Given the description of an element on the screen output the (x, y) to click on. 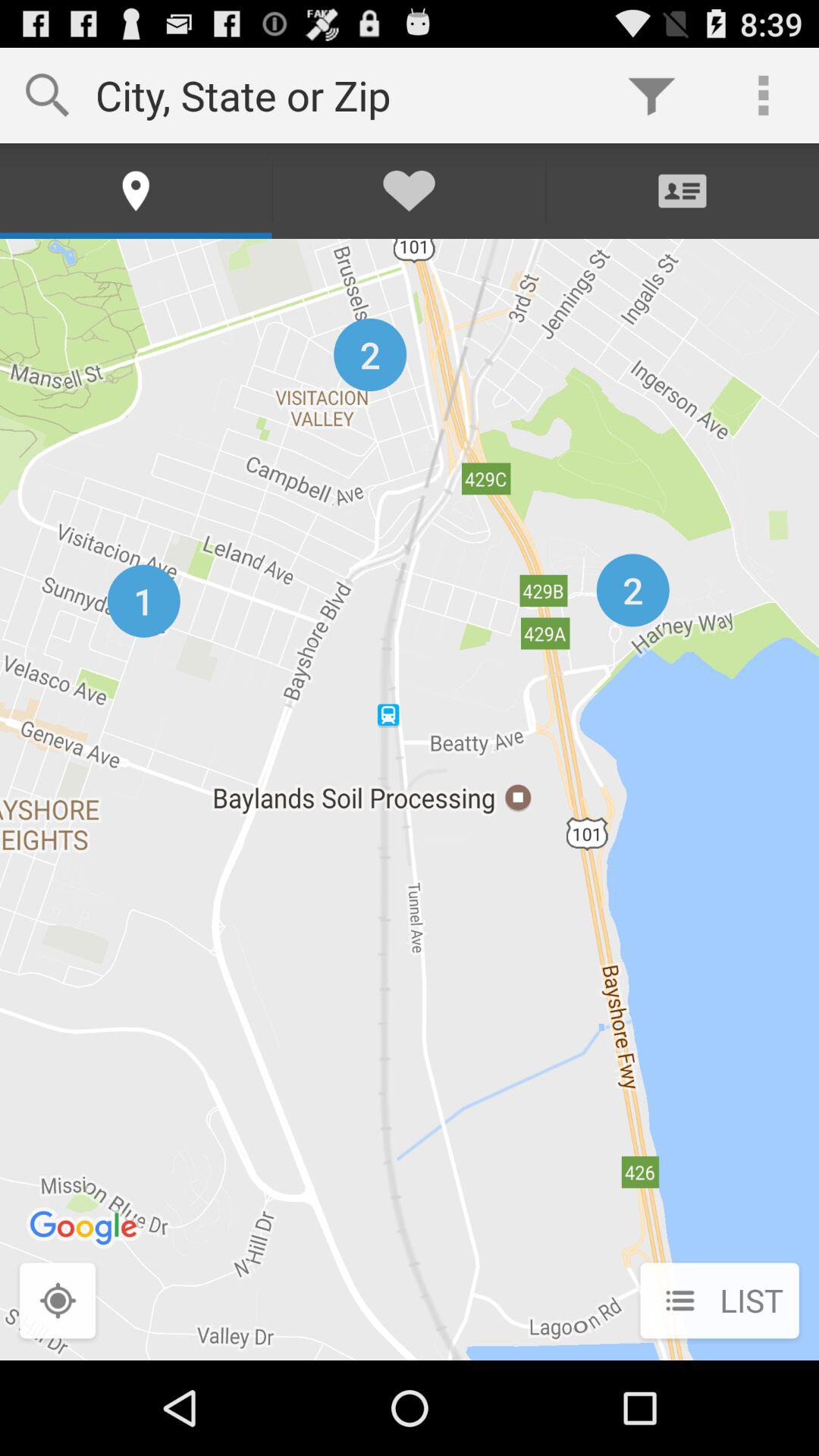
press list at the bottom right corner (719, 1302)
